Given the description of an element on the screen output the (x, y) to click on. 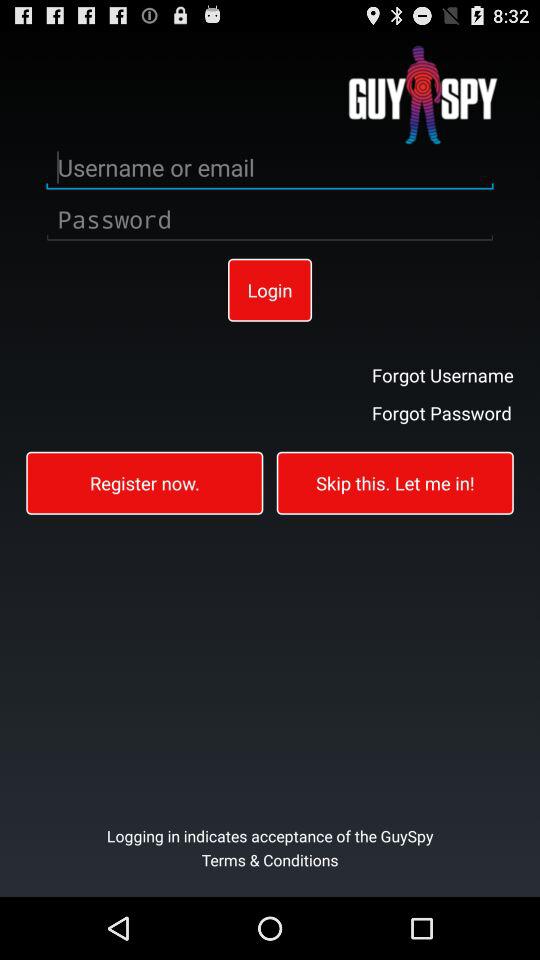
jump to forgot username (442, 374)
